Given the description of an element on the screen output the (x, y) to click on. 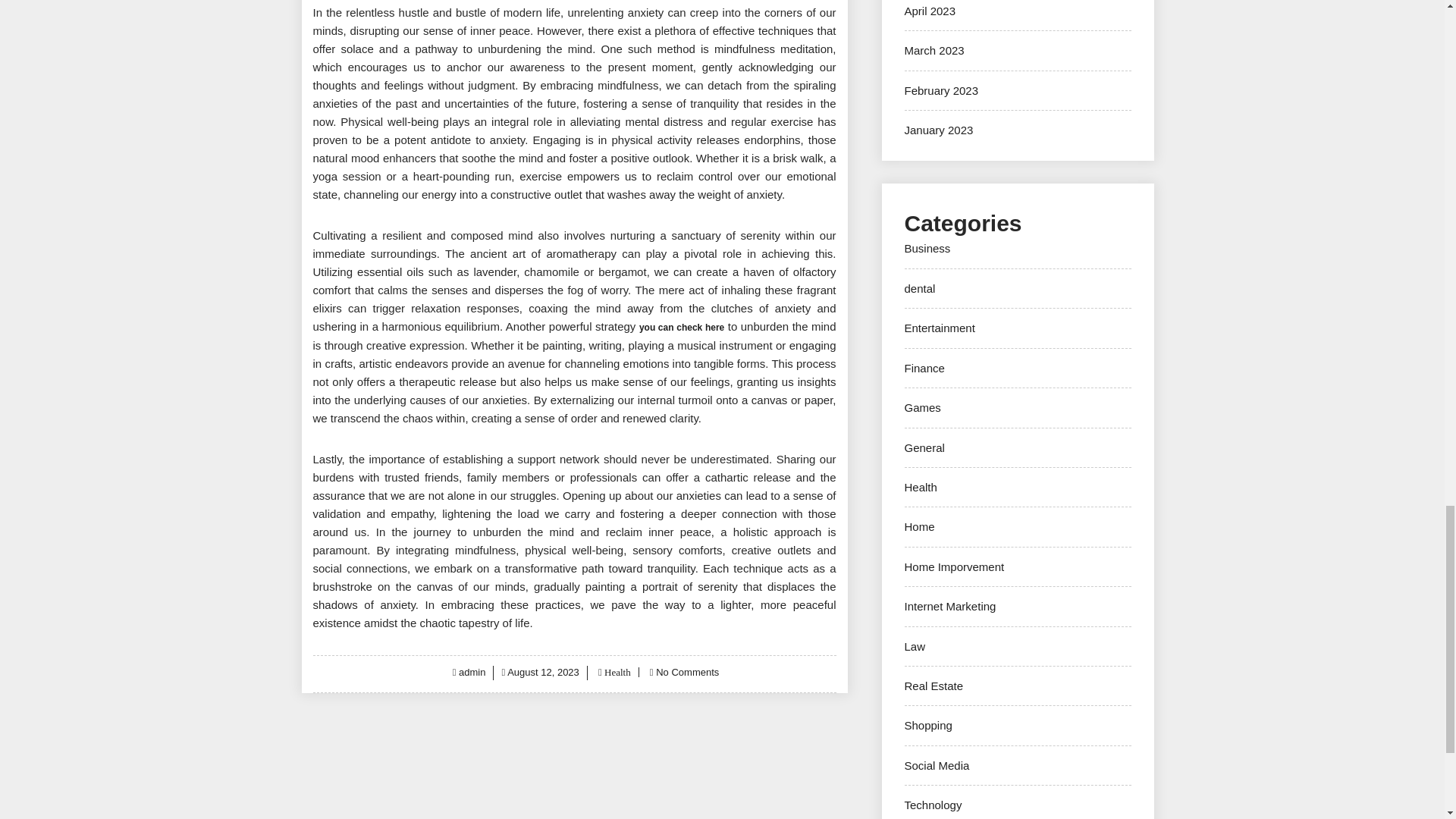
No Comments (687, 672)
Health (616, 672)
August 12, 2023 (542, 672)
admin (471, 672)
you can check here (681, 327)
